Given the description of an element on the screen output the (x, y) to click on. 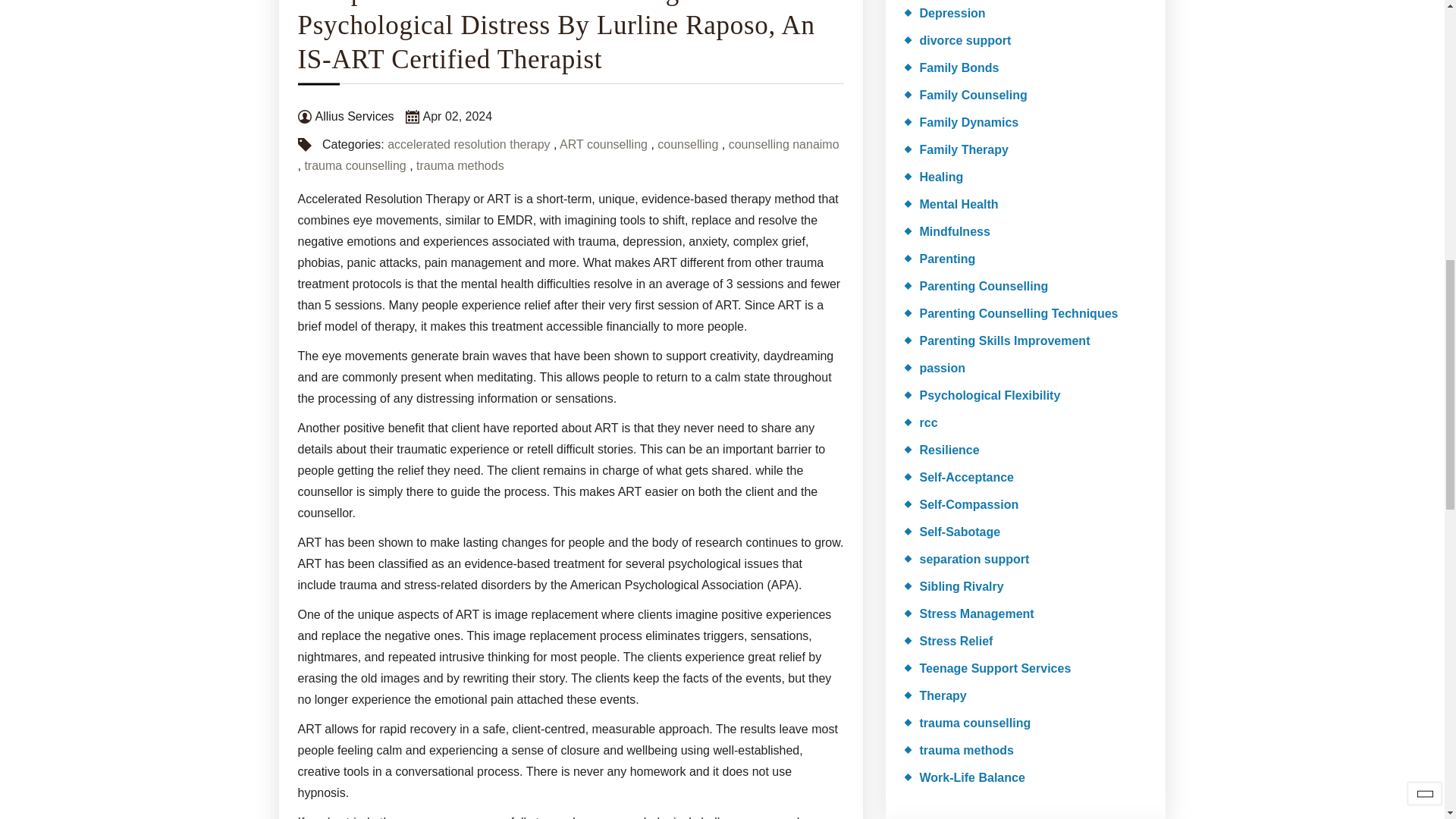
trauma methods (459, 164)
counselling (687, 144)
ART counselling (603, 144)
counselling nanaimo (784, 144)
accelerated resolution therapy (468, 144)
trauma counselling (355, 164)
